Given the description of an element on the screen output the (x, y) to click on. 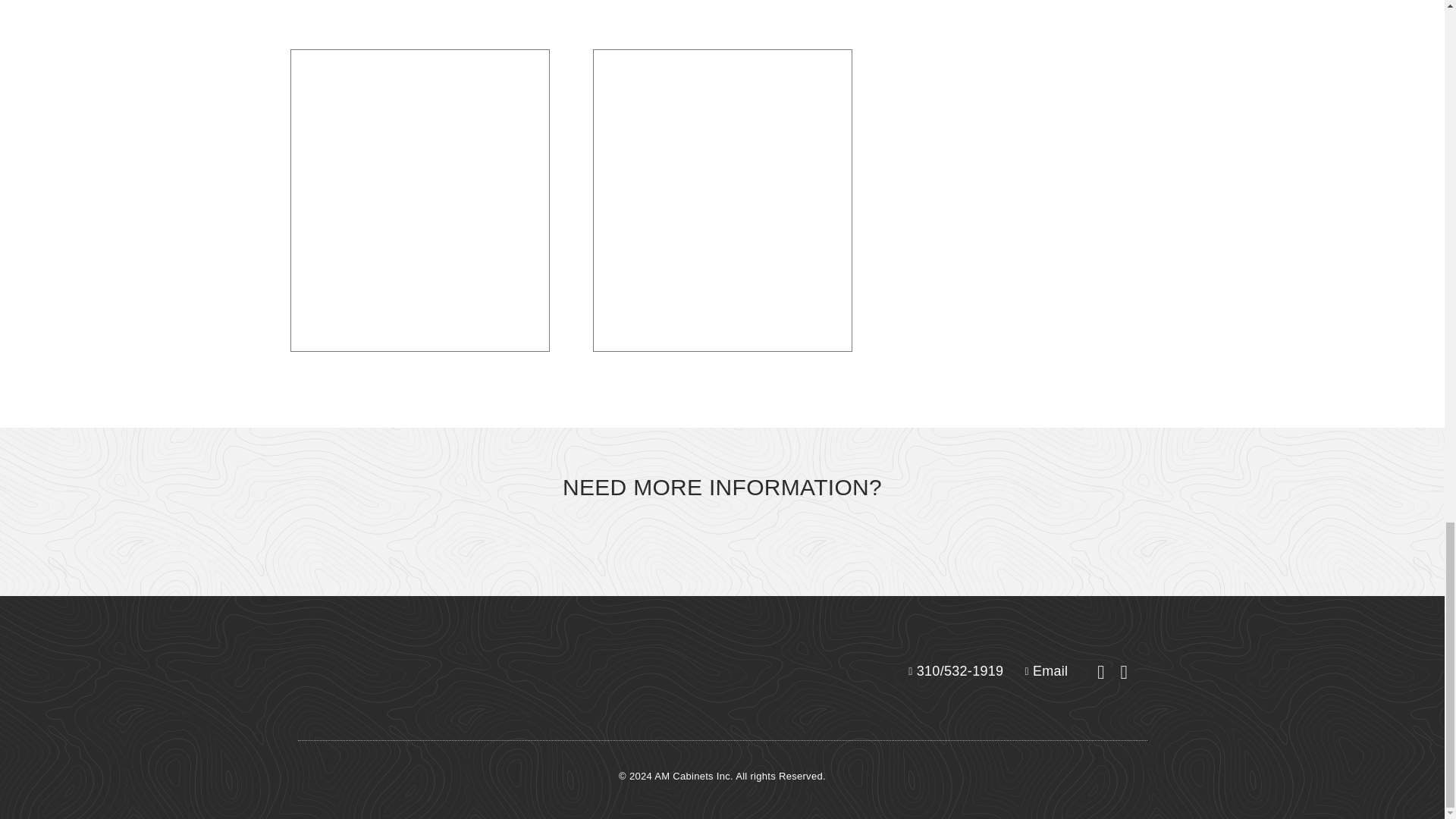
Email (1040, 670)
Linkedin (1099, 671)
Instagram (1124, 671)
